Given the description of an element on the screen output the (x, y) to click on. 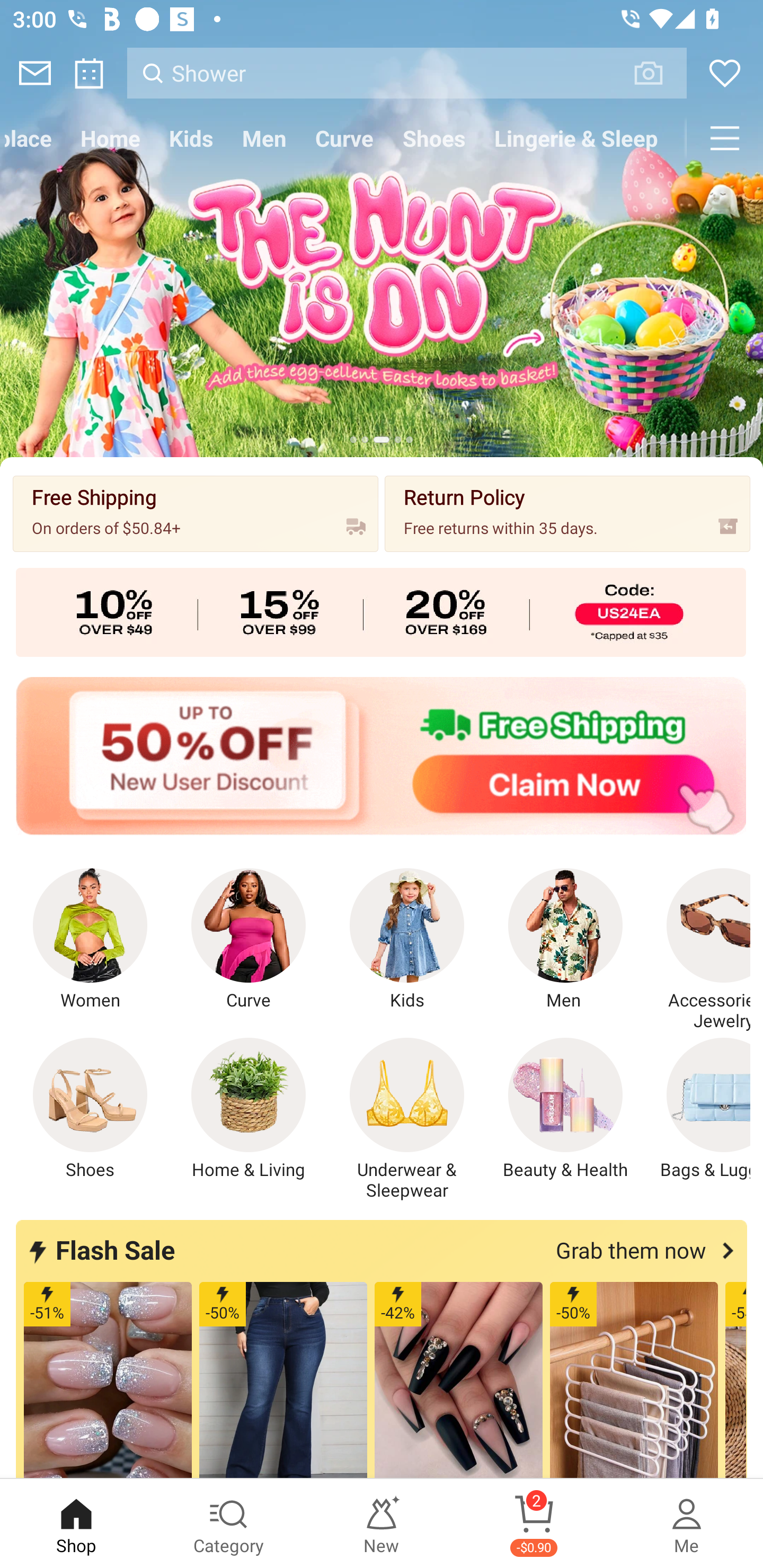
Wishlist (724, 72)
VISUAL SEARCH (657, 72)
Marketplace (33, 137)
Home (110, 137)
Kids (191, 137)
Men (264, 137)
Curve (344, 137)
Shoes (433, 137)
Lingerie & Sleep (575, 137)
Free Shipping On orders of $50.84+ (195, 513)
Return Policy Free returns within 35 days. (567, 513)
Women (89, 939)
Curve (248, 939)
Kids (406, 939)
Men  (565, 939)
Accessories & Jewelry (698, 949)
Shoes (89, 1109)
Home & Living (248, 1109)
Underwear & Sleepwear (406, 1119)
Beauty & Health (565, 1109)
Bags & Luggage (698, 1109)
Category (228, 1523)
New (381, 1523)
Cart 2 -$0.90 (533, 1523)
Me (686, 1523)
